Given the description of an element on the screen output the (x, y) to click on. 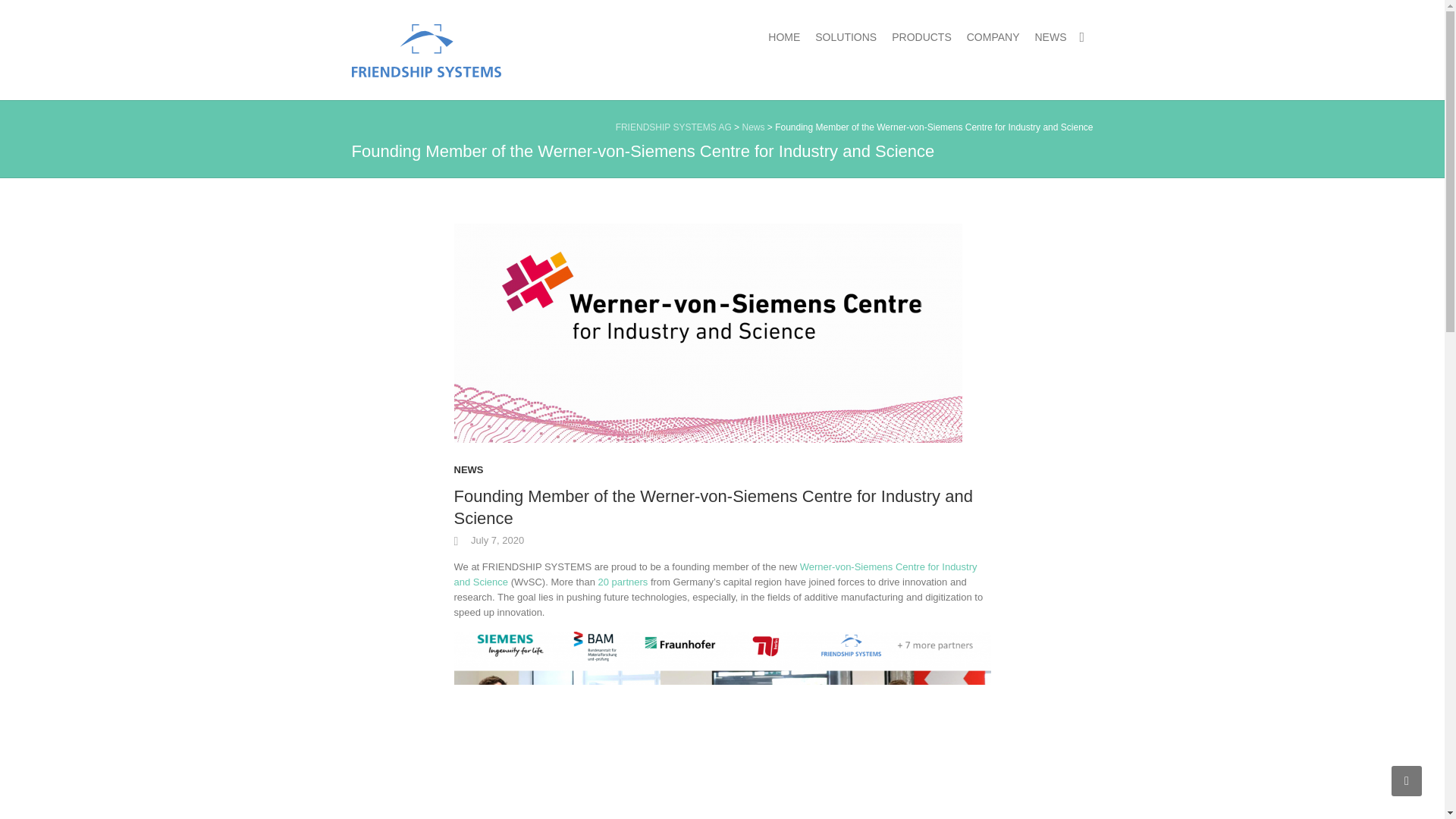
Go to FRIENDSHIP SYSTEMS AG. (673, 127)
FRIENDSHIP SYSTEMS AG (426, 61)
Go to the News Category archives. (752, 127)
10:41 am (488, 540)
